Given the description of an element on the screen output the (x, y) to click on. 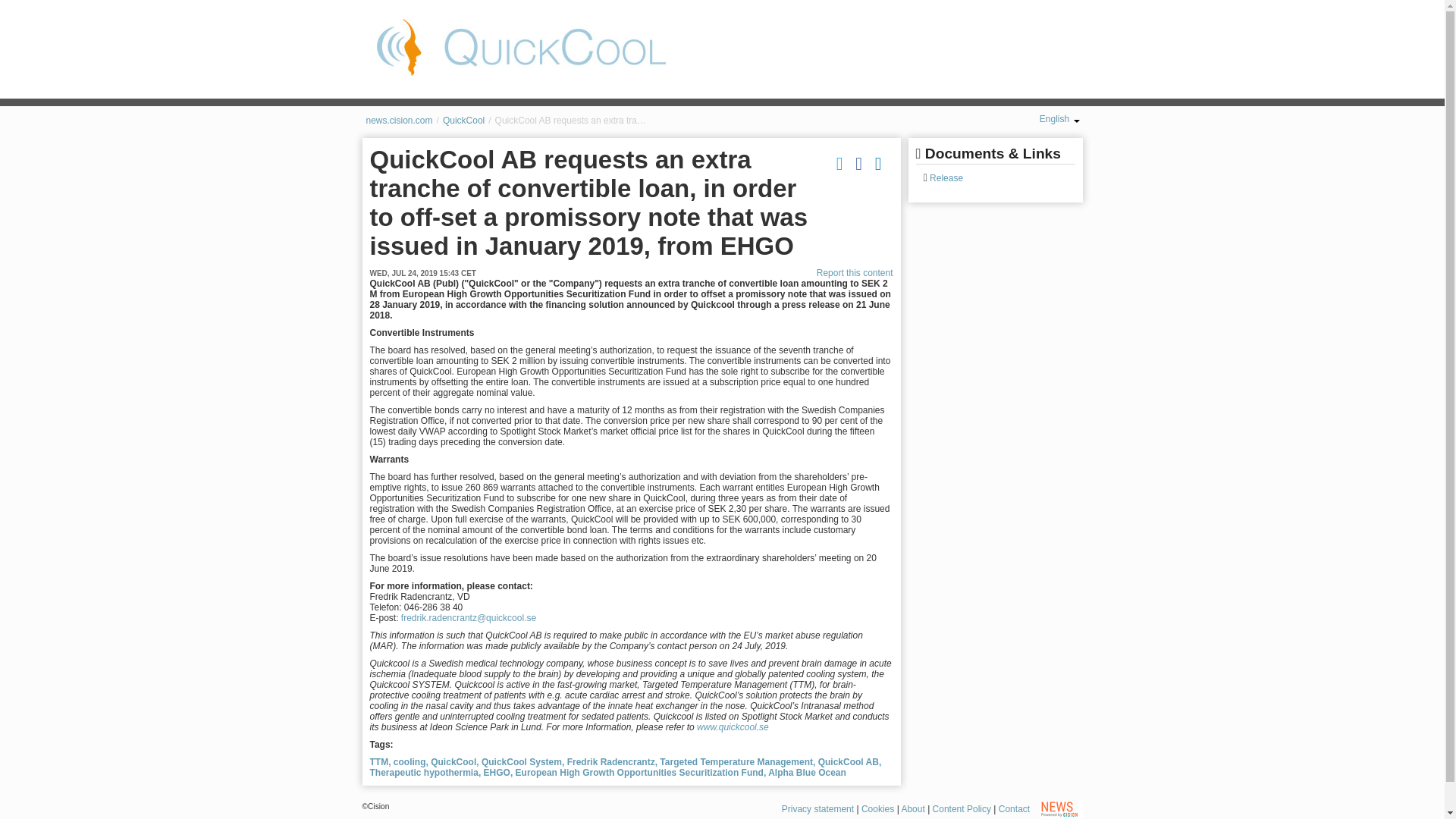
QuickCool (463, 120)
Report this content (854, 272)
news.cision.com (398, 120)
news.cision.com (398, 120)
Fredrik Radencrantz (612, 761)
QuickCool (520, 47)
Privacy statement (817, 808)
English (1059, 118)
QuickCool (463, 120)
Therapeutic hypothermia (425, 772)
Alpha Blue Ocean (806, 772)
Release (944, 177)
About (912, 808)
QuickCool System (522, 761)
Content Policy (962, 808)
